Given the description of an element on the screen output the (x, y) to click on. 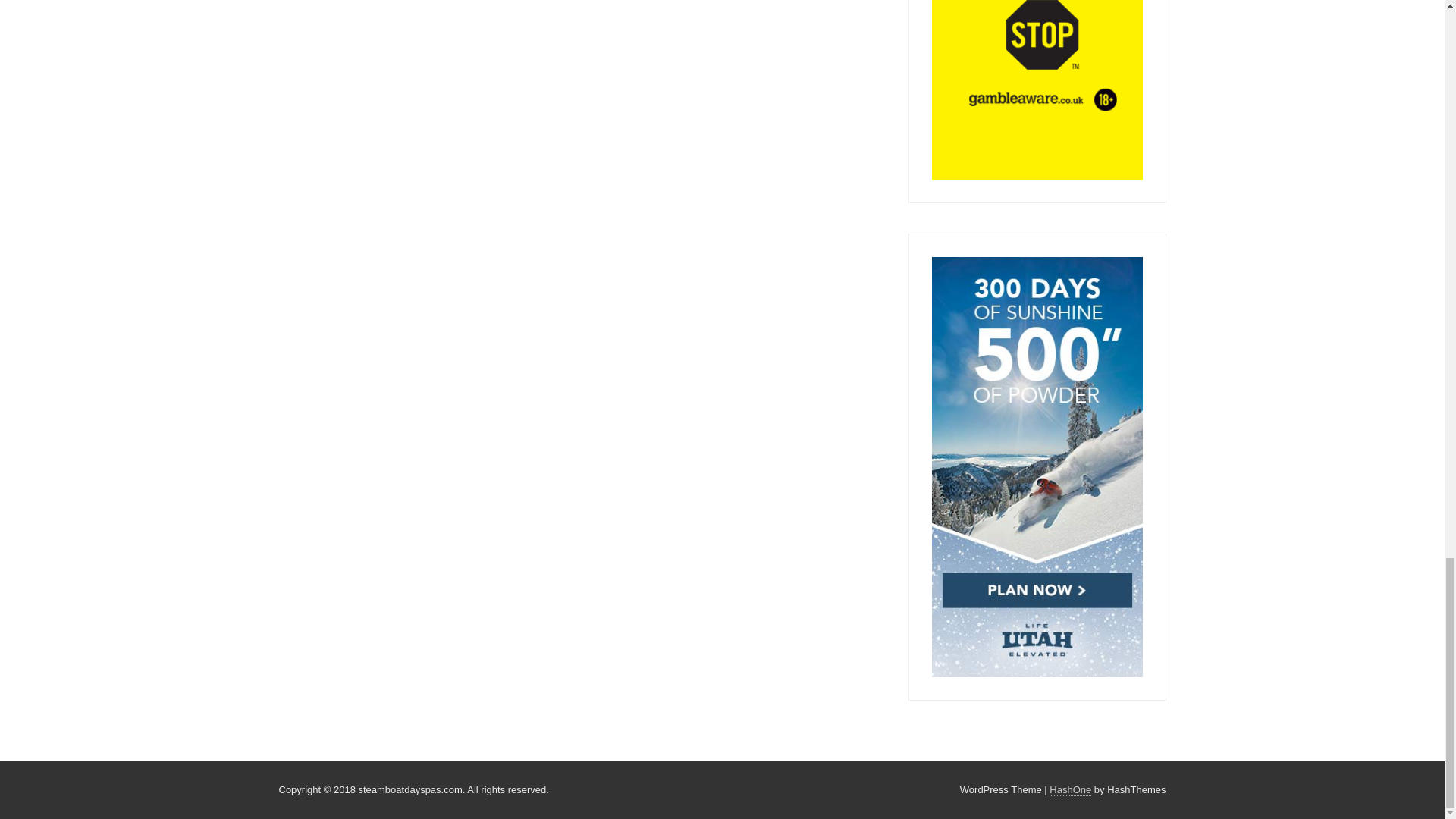
HashOne (1069, 789)
